Given the description of an element on the screen output the (x, y) to click on. 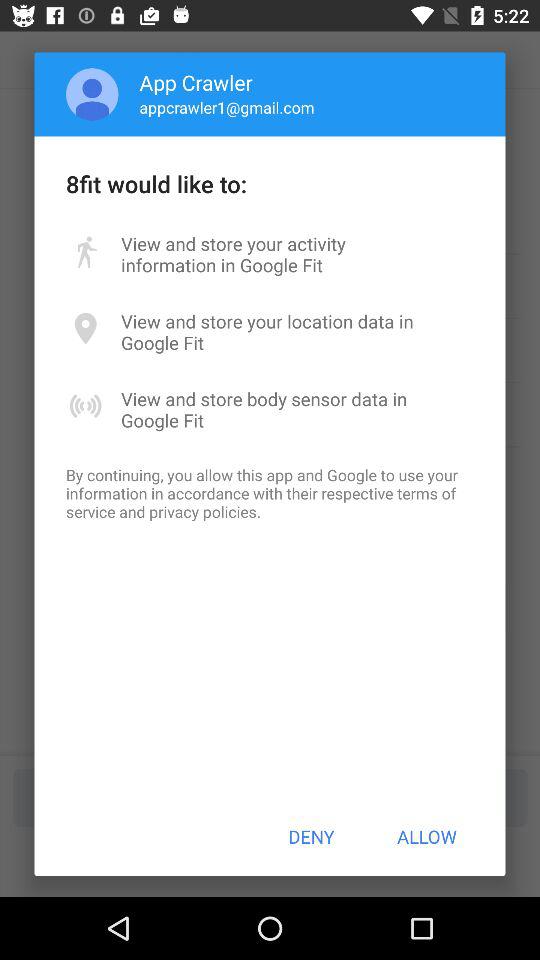
select the deny at the bottom (311, 836)
